Given the description of an element on the screen output the (x, y) to click on. 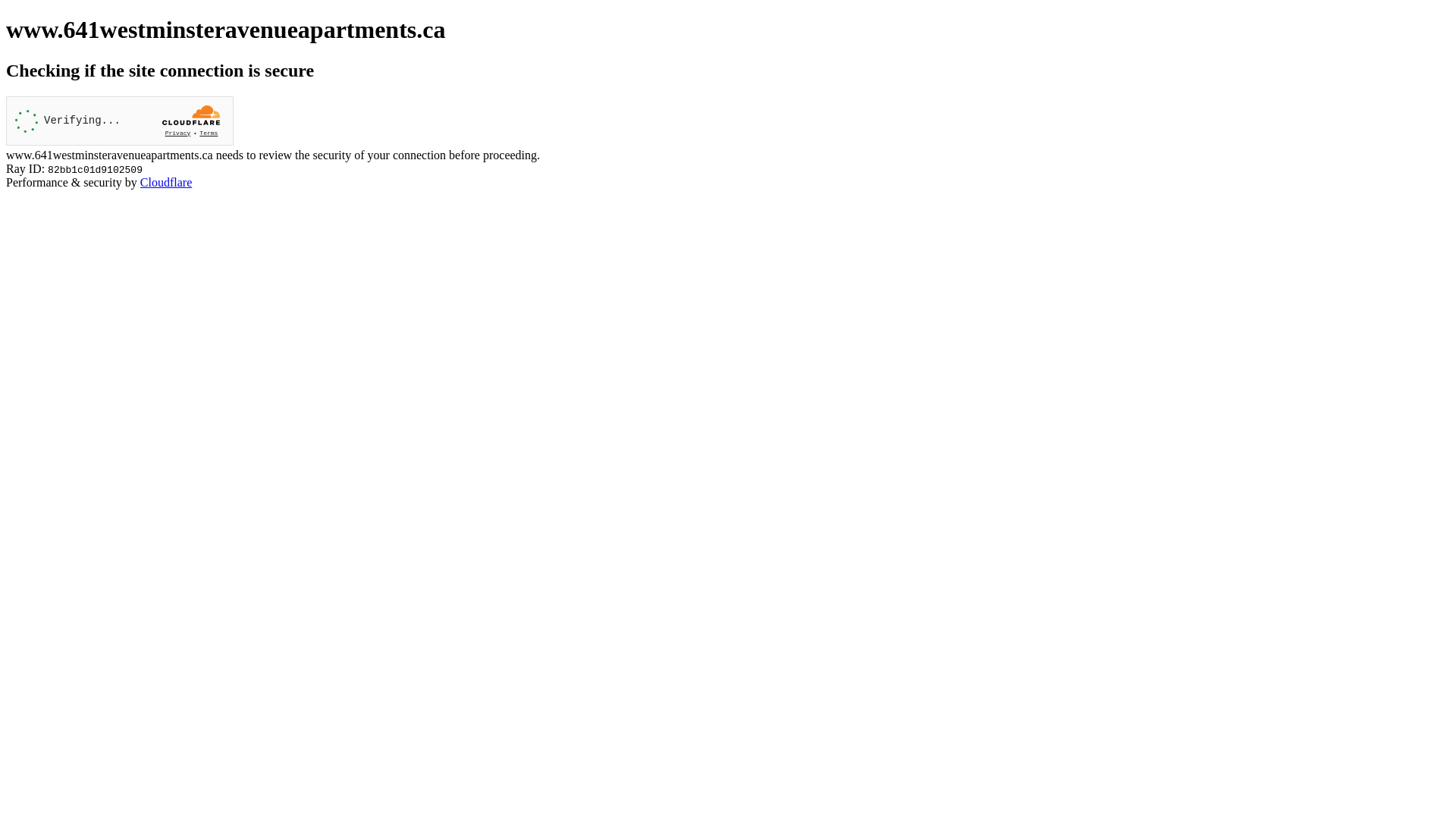
Widget containing a Cloudflare security challenge Element type: hover (119, 120)
Cloudflare Element type: text (165, 181)
